Given the description of an element on the screen output the (x, y) to click on. 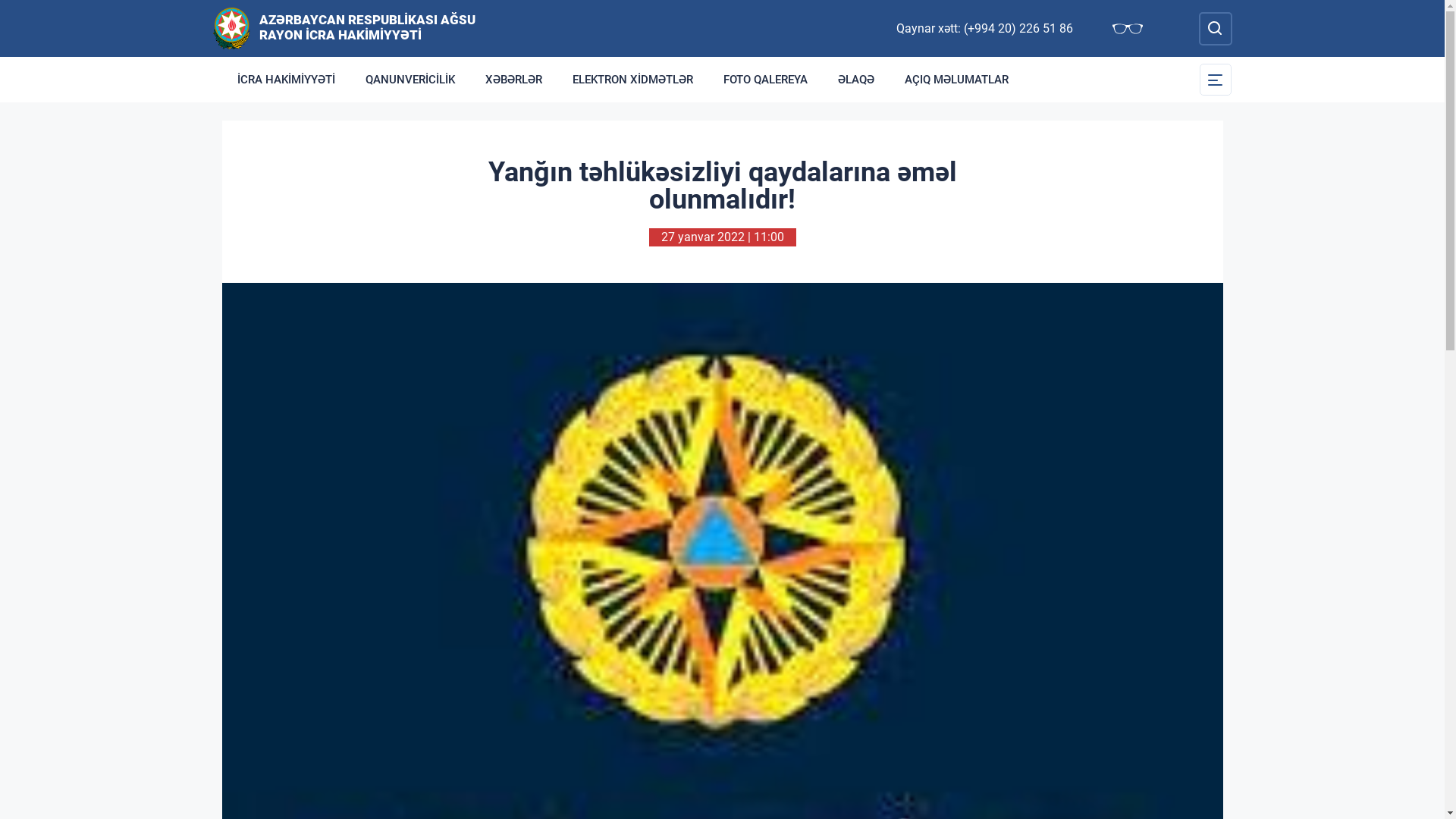
FOTO QALEREYA Element type: text (765, 79)
QANUNVERICILIK Element type: text (410, 79)
